Given the description of an element on the screen output the (x, y) to click on. 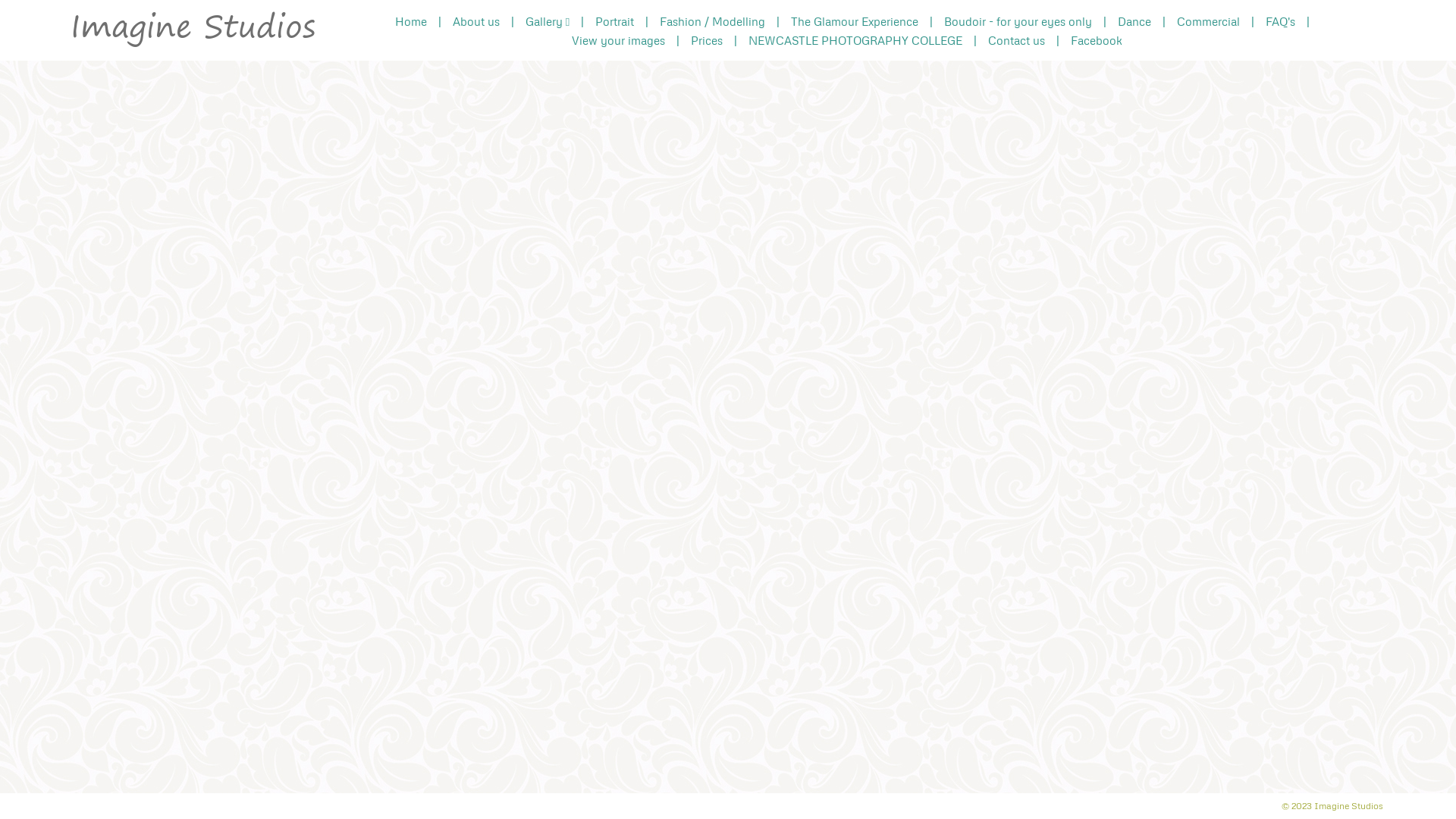
Facebook Element type: text (1095, 39)
Portrait Element type: text (614, 21)
Dance Element type: text (1134, 21)
Fashion / Modelling Element type: text (712, 21)
Home Element type: text (410, 21)
Boudoir - for your eyes only Element type: text (1017, 21)
Contact us Element type: text (1016, 39)
About us Element type: text (476, 21)
Commercial Element type: text (1208, 21)
FAQ's Element type: text (1280, 21)
Prices Element type: text (706, 39)
View your images Element type: text (617, 39)
NEWCASTLE PHOTOGRAPHY COLLEGE Element type: text (855, 39)
The Glamour Experience Element type: text (854, 21)
